Given the description of an element on the screen output the (x, y) to click on. 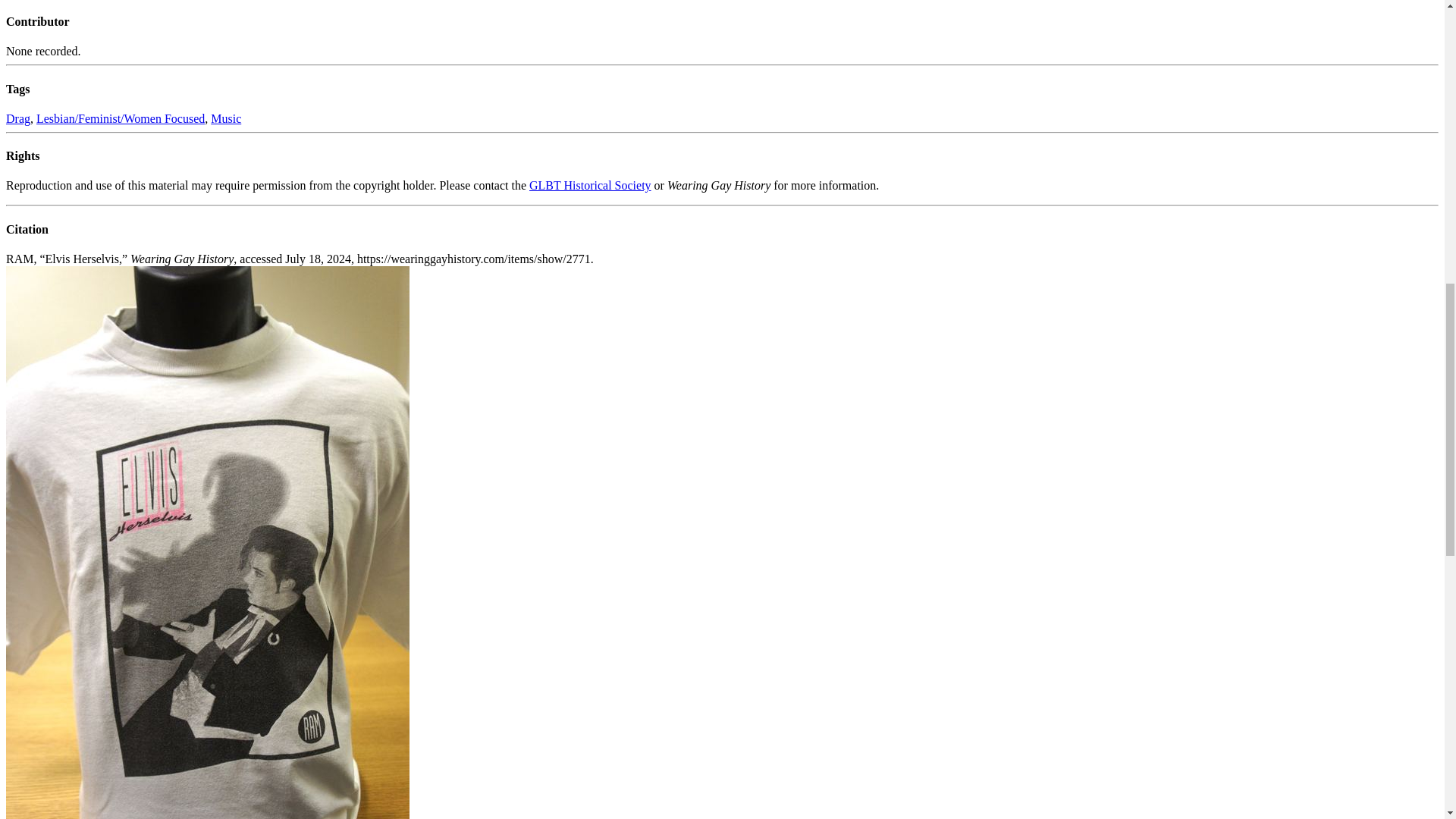
Music (226, 118)
GLBT Historical Society (589, 185)
Drag (17, 118)
